Given the description of an element on the screen output the (x, y) to click on. 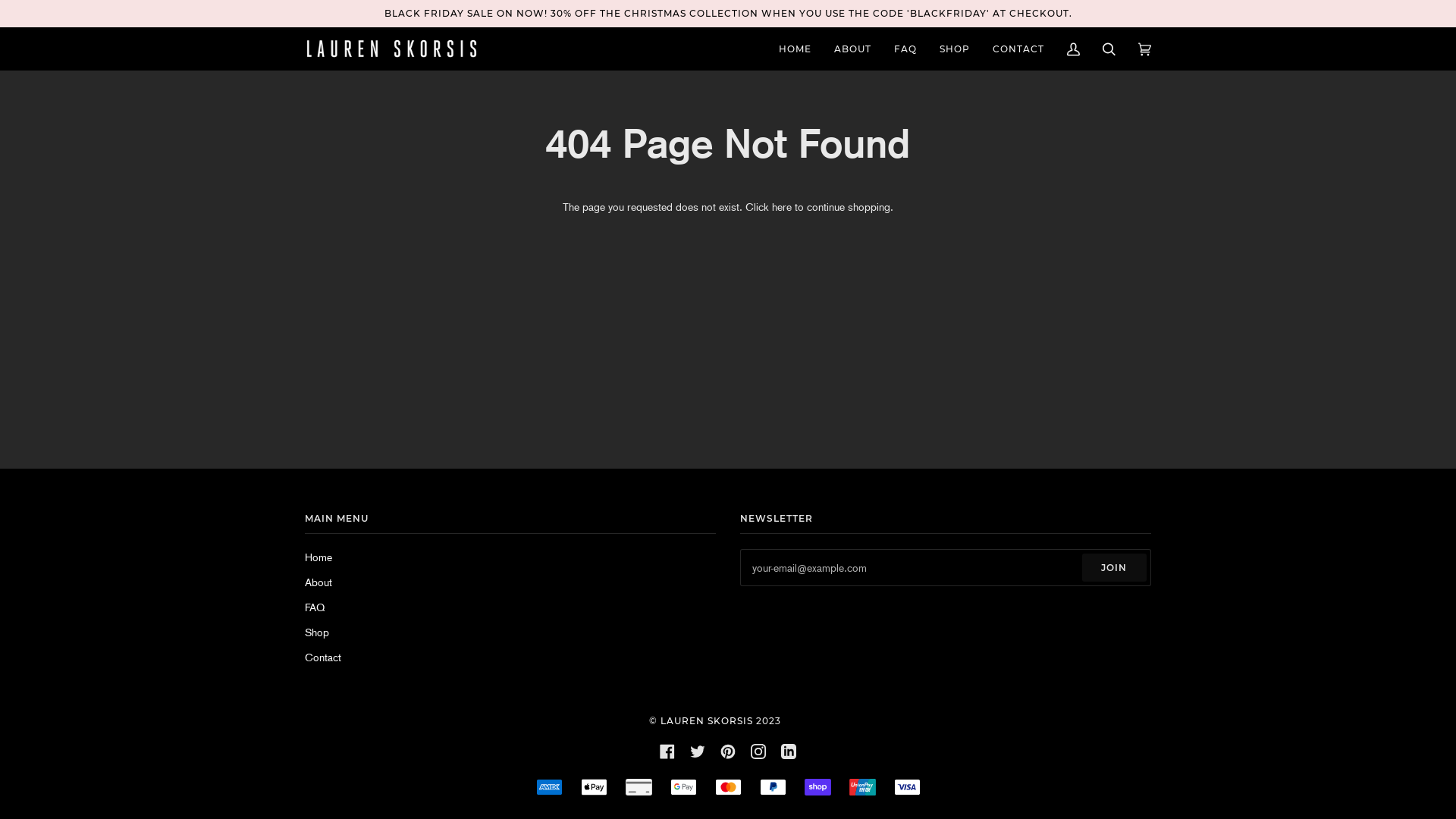
JOIN Element type: text (1114, 567)
Home Element type: text (318, 557)
About Element type: text (318, 582)
here Element type: text (781, 206)
Search Element type: text (1108, 48)
FACEBOOK Element type: text (666, 750)
PINTEREST Element type: text (727, 750)
LAUREN SKORSIS Element type: text (706, 719)
FAQ Element type: text (905, 48)
LINKEDIN Element type: text (788, 750)
Contact Element type: text (322, 657)
CONTACT Element type: text (1018, 48)
FAQ Element type: text (314, 607)
SHOP Element type: text (954, 48)
Shop Element type: text (316, 632)
HOME Element type: text (794, 48)
ABOUT Element type: text (852, 48)
INSTAGRAM Element type: text (757, 750)
My Account Element type: text (1073, 48)
TWITTER Element type: text (697, 750)
Cart
(0) Element type: text (1144, 48)
